Given the description of an element on the screen output the (x, y) to click on. 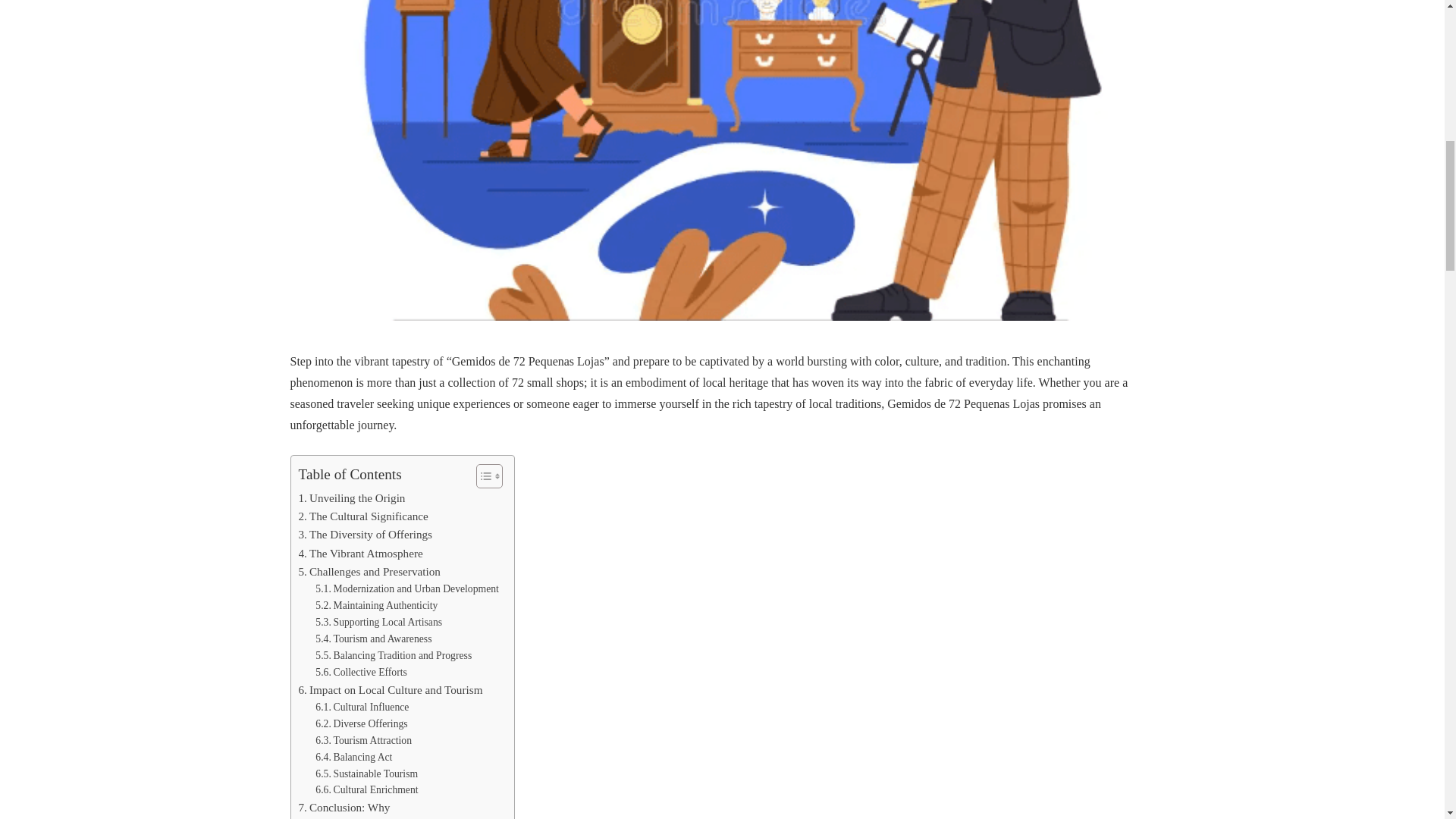
Tourism and Awareness (372, 638)
Maintaining Authenticity (376, 605)
The Diversity of Offerings (365, 534)
Supporting Local Artisans (378, 622)
Modernization and Urban Development (407, 588)
The Diversity of Offerings (365, 534)
The Cultural Significance (363, 515)
The Vibrant Atmosphere (360, 553)
Challenges and Preservation (369, 571)
Unveiling the Origin (352, 497)
Balancing Tradition and Progress (393, 655)
Unveiling the Origin (352, 497)
The Cultural Significance (363, 515)
The Vibrant Atmosphere (360, 553)
